Given the description of an element on the screen output the (x, y) to click on. 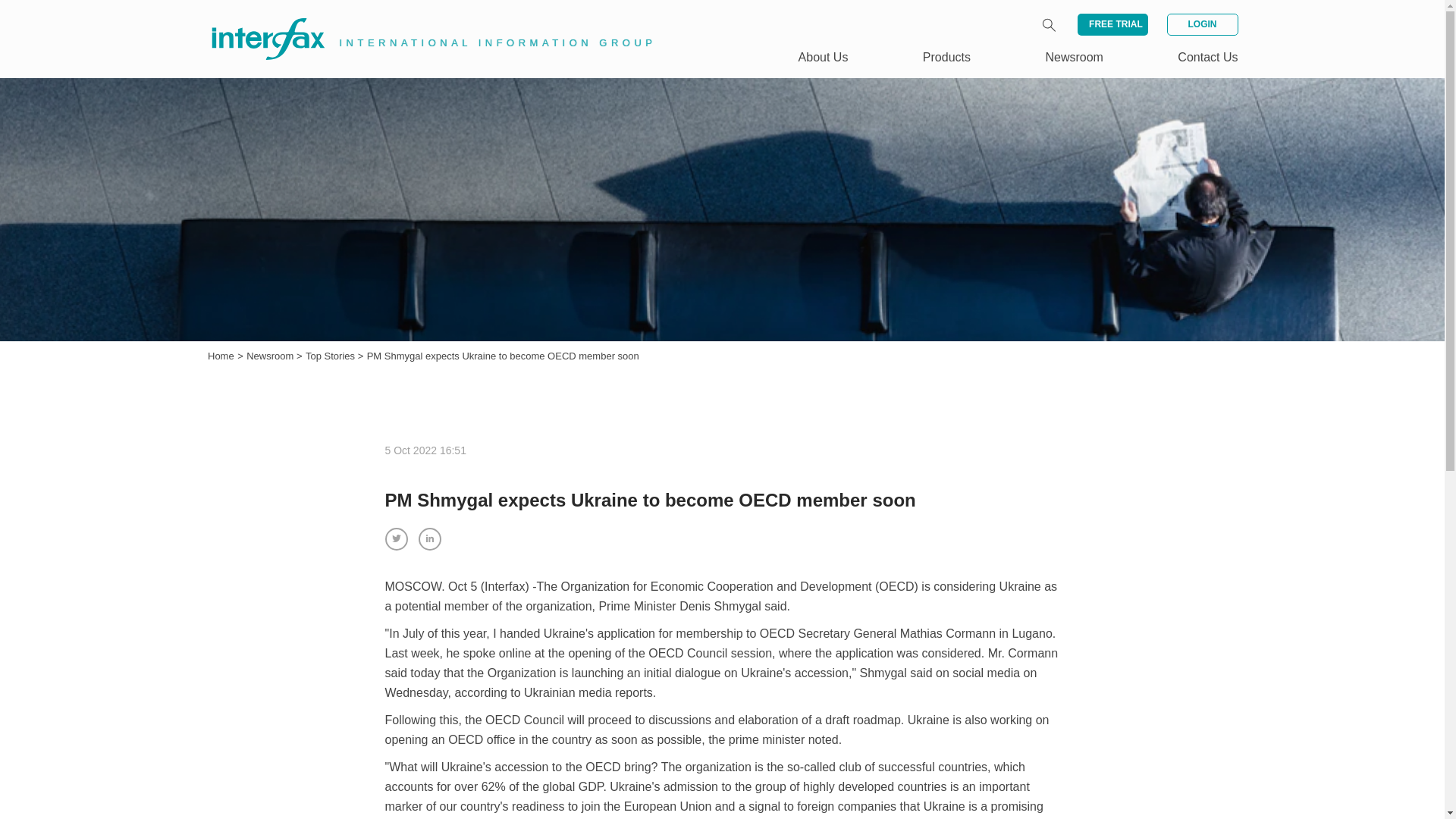
Products (947, 56)
Newsroom (271, 355)
INTERNATIONAL INFORMATION GROUP (421, 20)
Contact Us (1207, 56)
LOGIN (1201, 24)
Newsroom (1073, 56)
FREE TRIAL (1112, 24)
Home (221, 355)
Contact Us (1207, 56)
Top Stories (331, 355)
